Given the description of an element on the screen output the (x, y) to click on. 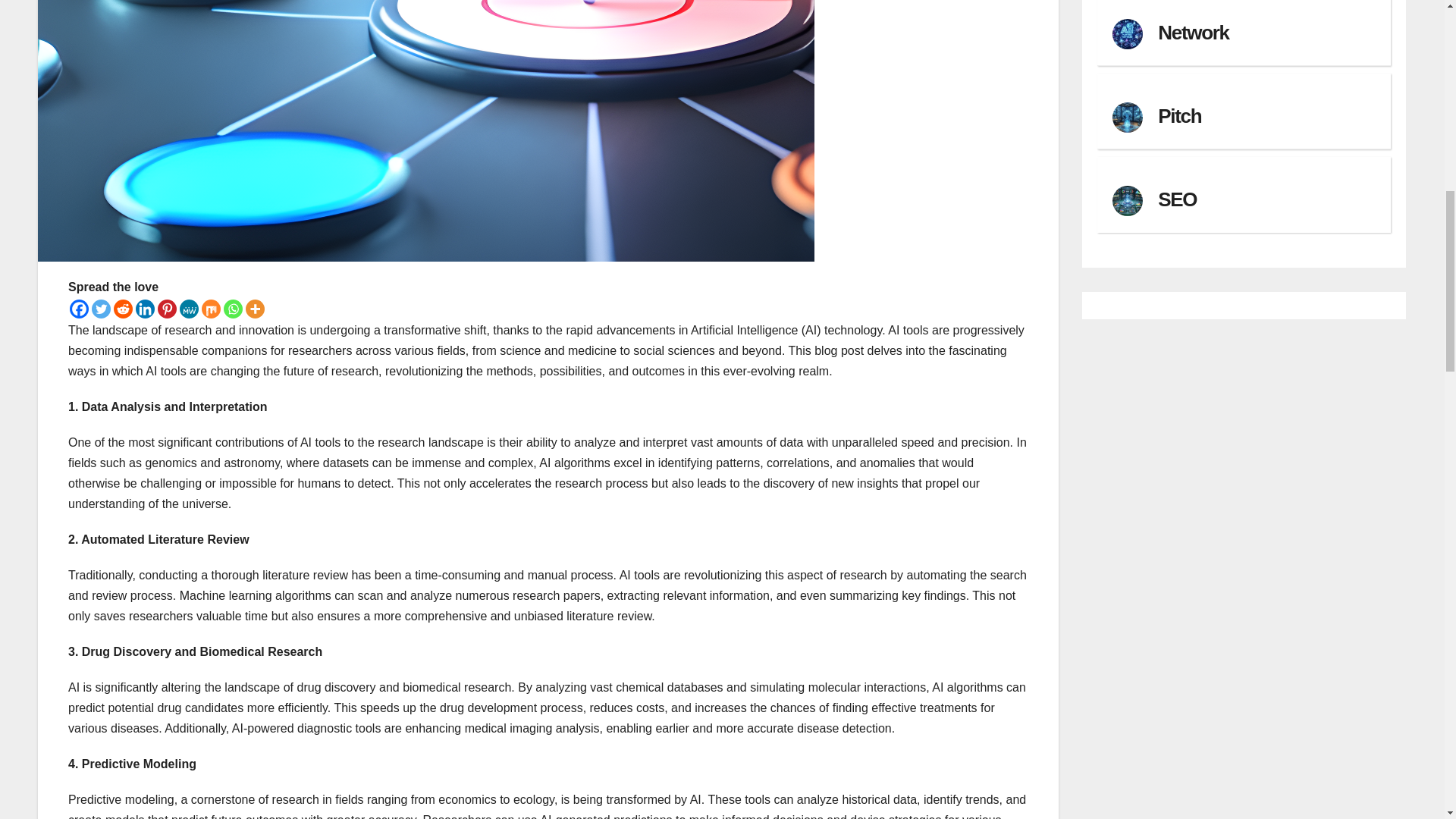
Linkedin (144, 308)
Twitter (100, 308)
More (255, 308)
Reddit (122, 308)
MeWe (188, 308)
Mix (211, 308)
Whatsapp (233, 308)
Facebook (78, 308)
Pinterest (166, 308)
